Given the description of an element on the screen output the (x, y) to click on. 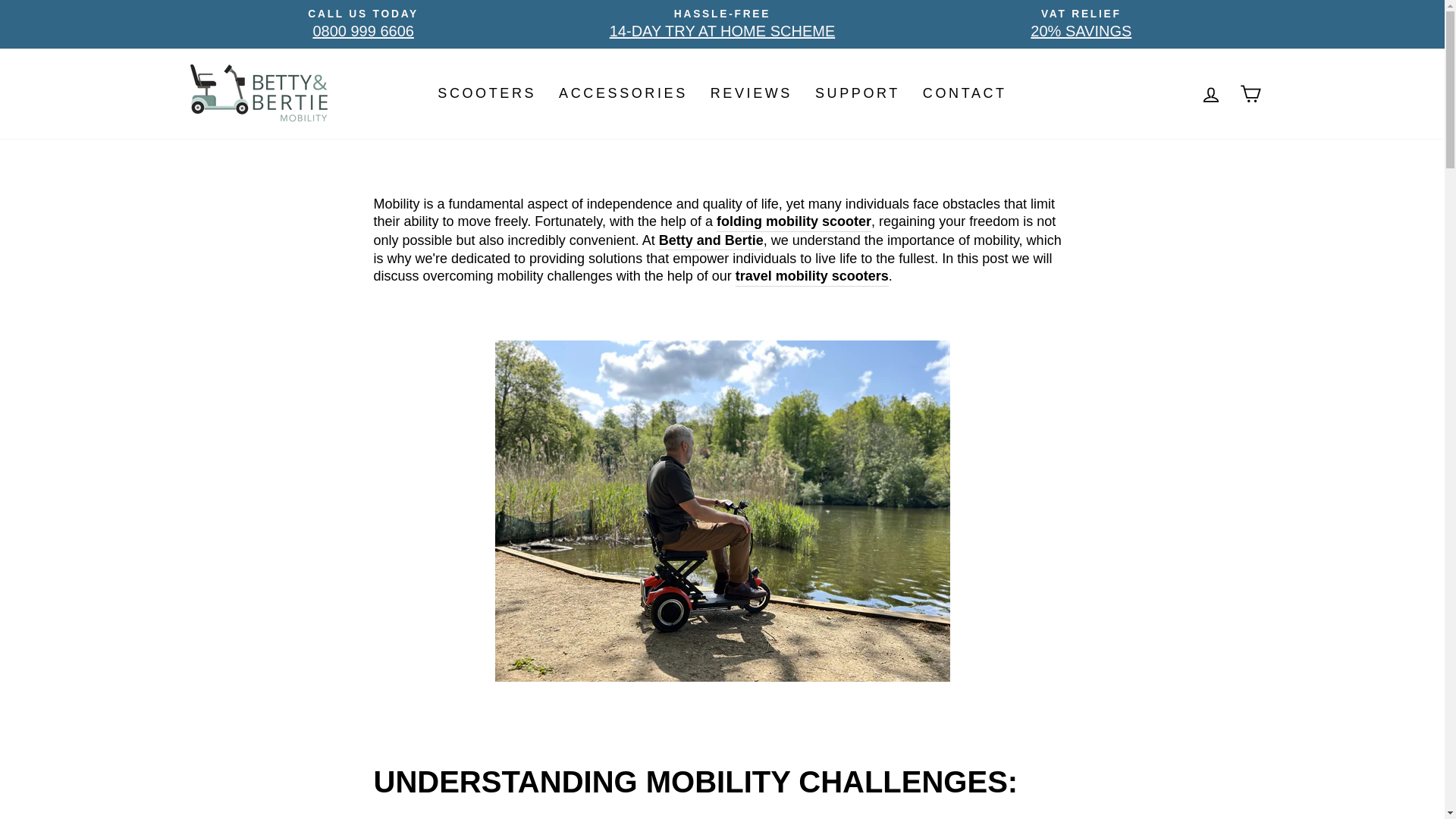
LOG IN (1210, 92)
REVIEWS (362, 23)
CONTACT (750, 93)
SUPPORT (964, 93)
SCOOTERS (857, 93)
ACCESSORIES (722, 23)
